Given the description of an element on the screen output the (x, y) to click on. 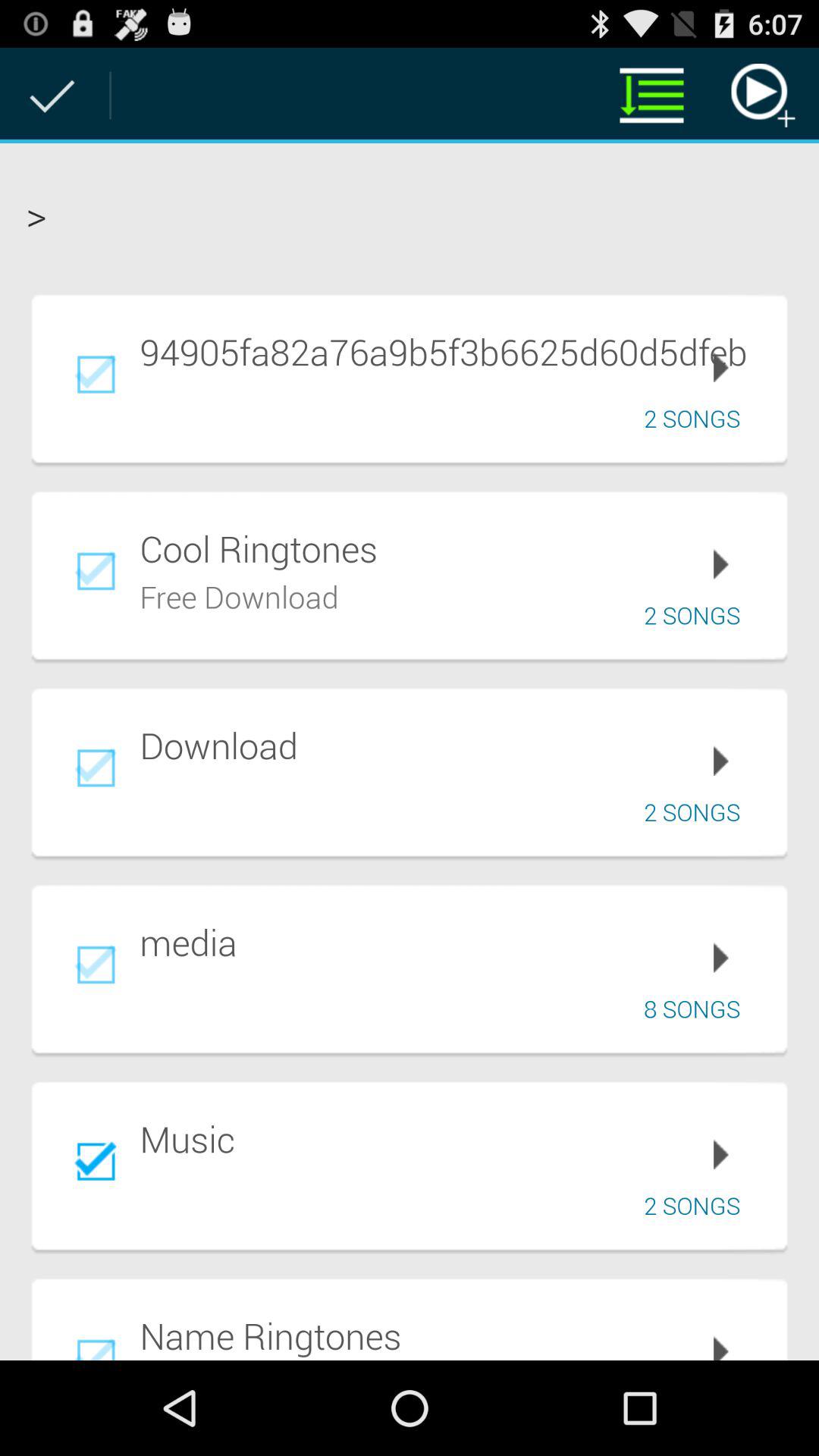
press 94905fa82a76a9b5f3b6625d60d5dfeb app (452, 351)
